Given the description of an element on the screen output the (x, y) to click on. 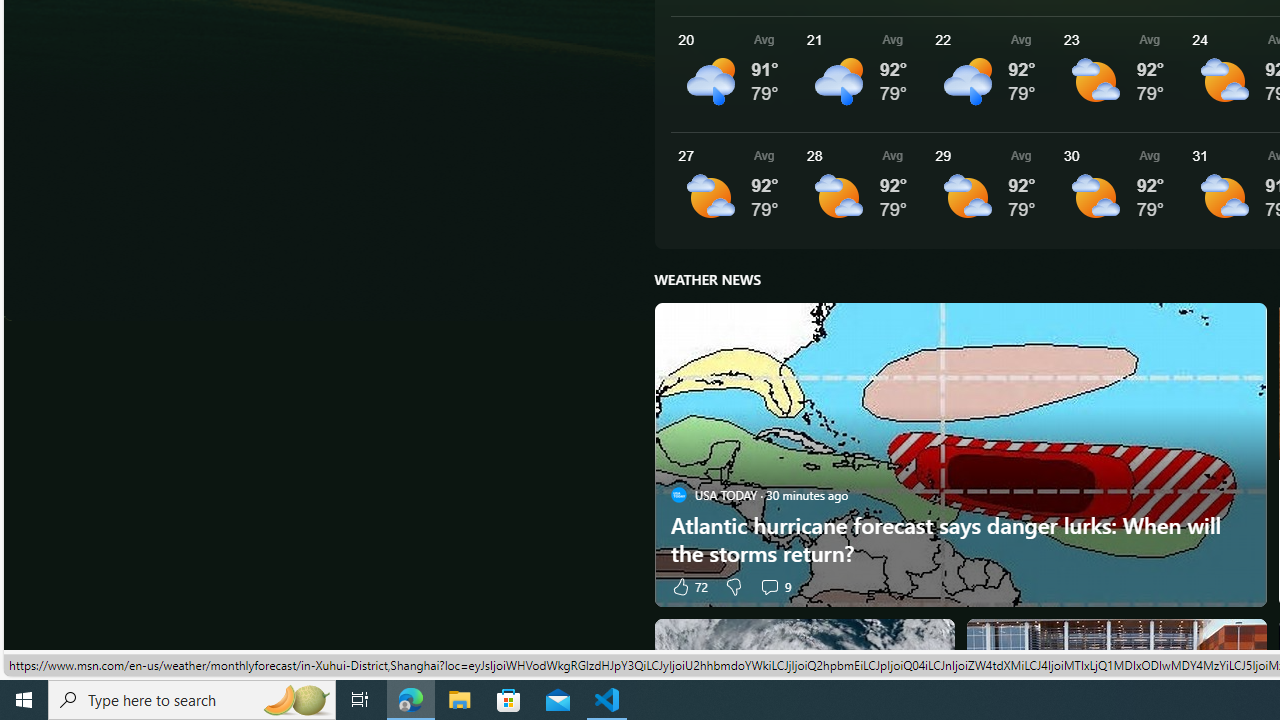
View comments 9 Comment (769, 586)
USA TODAY (678, 494)
See more (1242, 642)
